Given the description of an element on the screen output the (x, y) to click on. 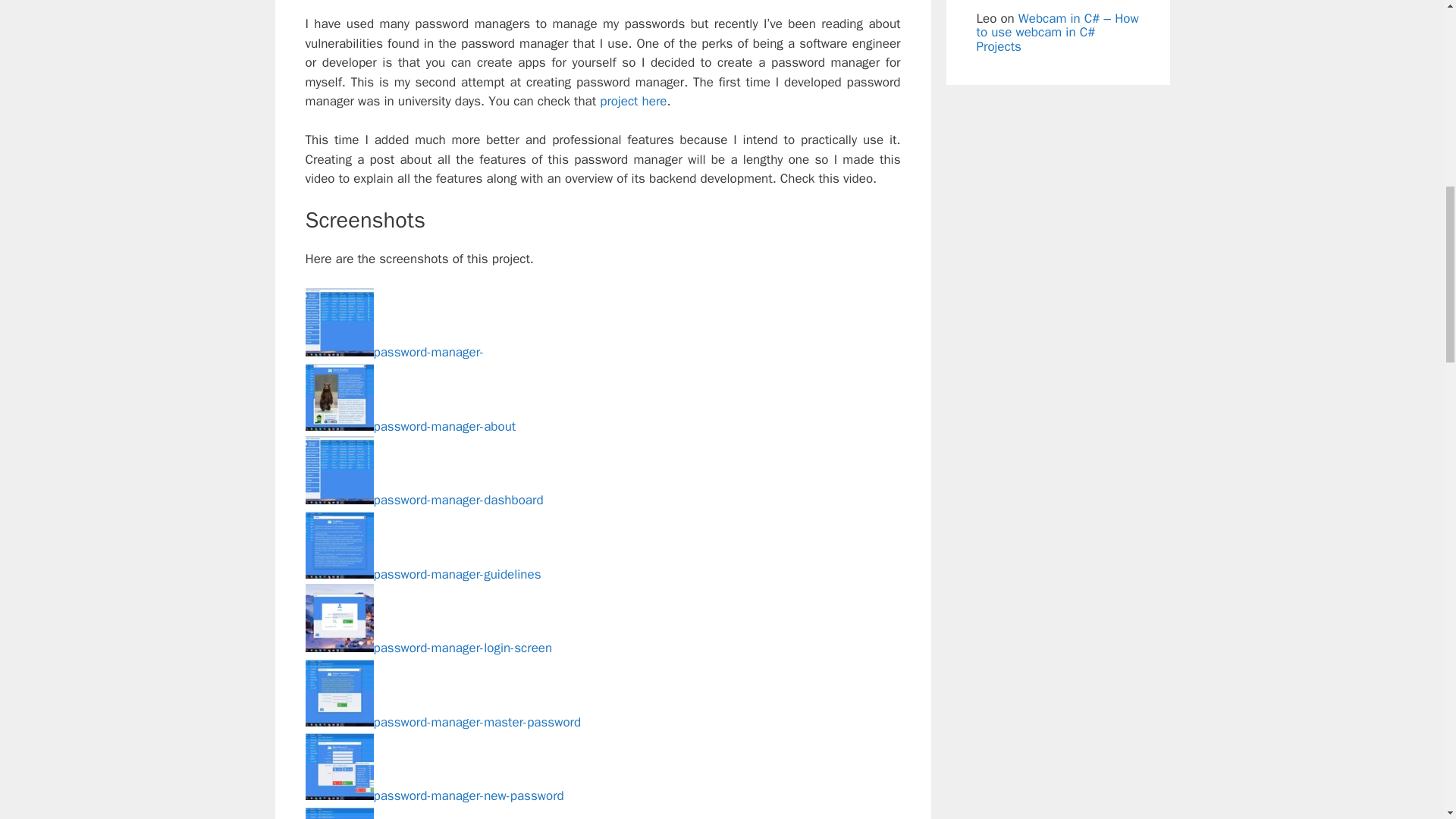
password-manager-new-password (433, 795)
password-manager-about (409, 426)
password-manager- (393, 351)
password-manager-login-screen (427, 647)
password-manager-dashboard (423, 499)
project here (632, 100)
password-manager- (393, 351)
password-manager-master-password (442, 722)
password-manager-login-screen (427, 647)
password-manager-guidelines (422, 574)
password-manager-master-password (442, 722)
password-manager-dashboard (423, 499)
password-manager-about (409, 426)
password-manager-guidelines (422, 574)
password-manager-new-password (433, 795)
